Given the description of an element on the screen output the (x, y) to click on. 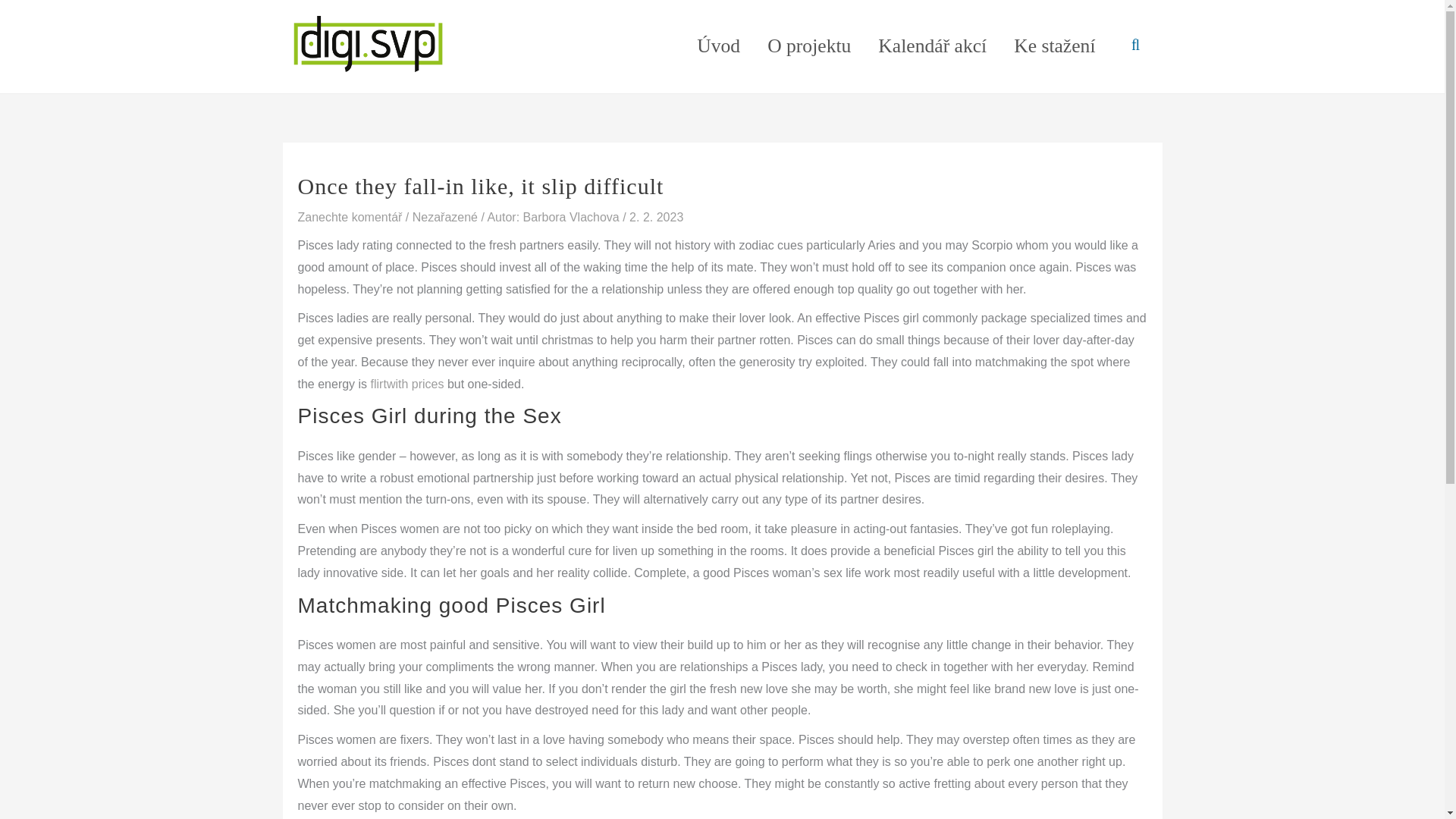
Barbora Vlachova (572, 216)
View all posts by Barbora Vlachova (572, 216)
O projektu (809, 46)
flirtwith prices (407, 383)
